Given the description of an element on the screen output the (x, y) to click on. 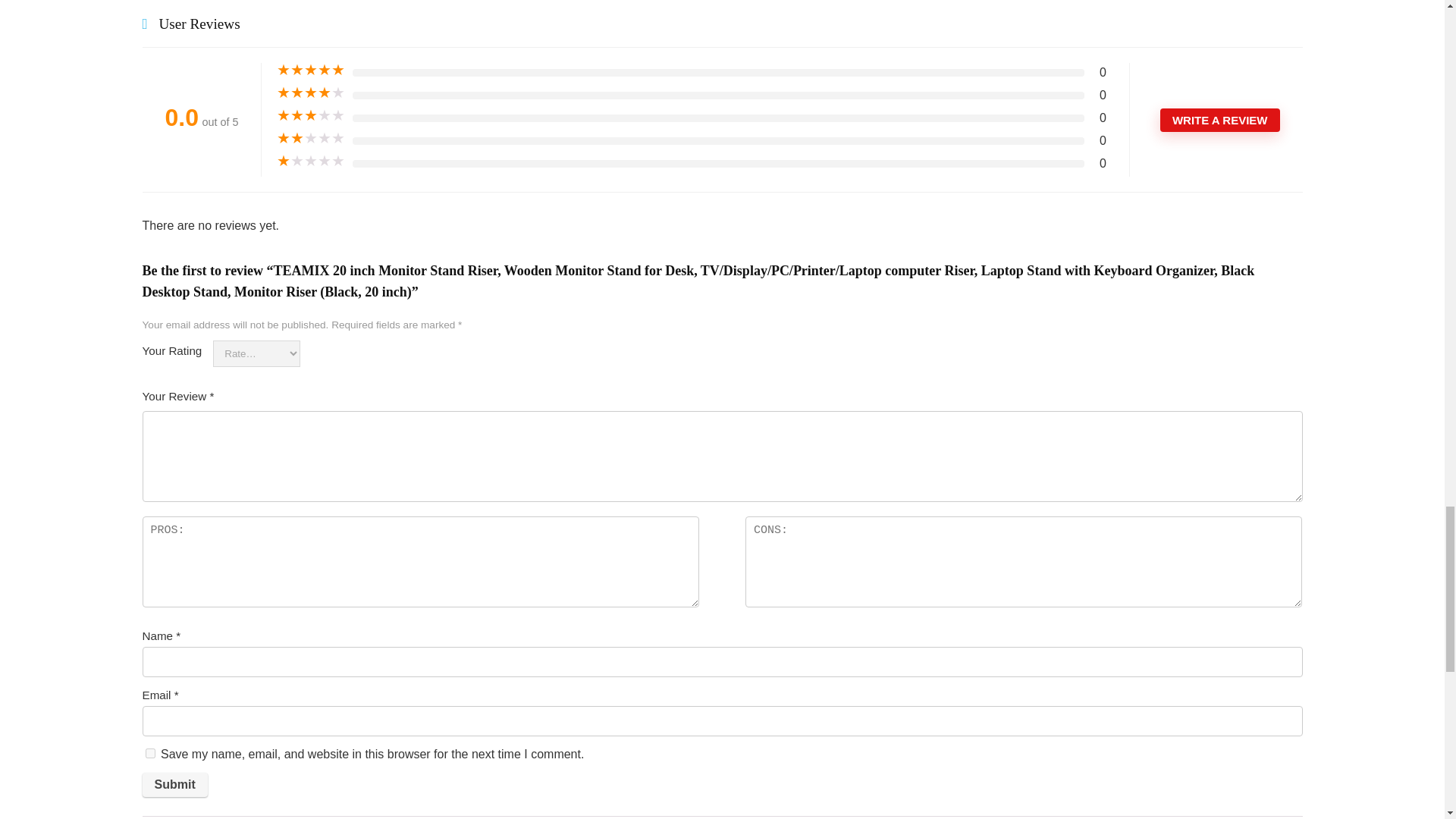
Submit (175, 784)
Rated 4 out of 5 (310, 92)
Rated 3 out of 5 (310, 115)
Submit (175, 784)
WRITE A REVIEW (1219, 119)
Rated 5 out of 5 (310, 70)
yes (150, 753)
